Given the description of an element on the screen output the (x, y) to click on. 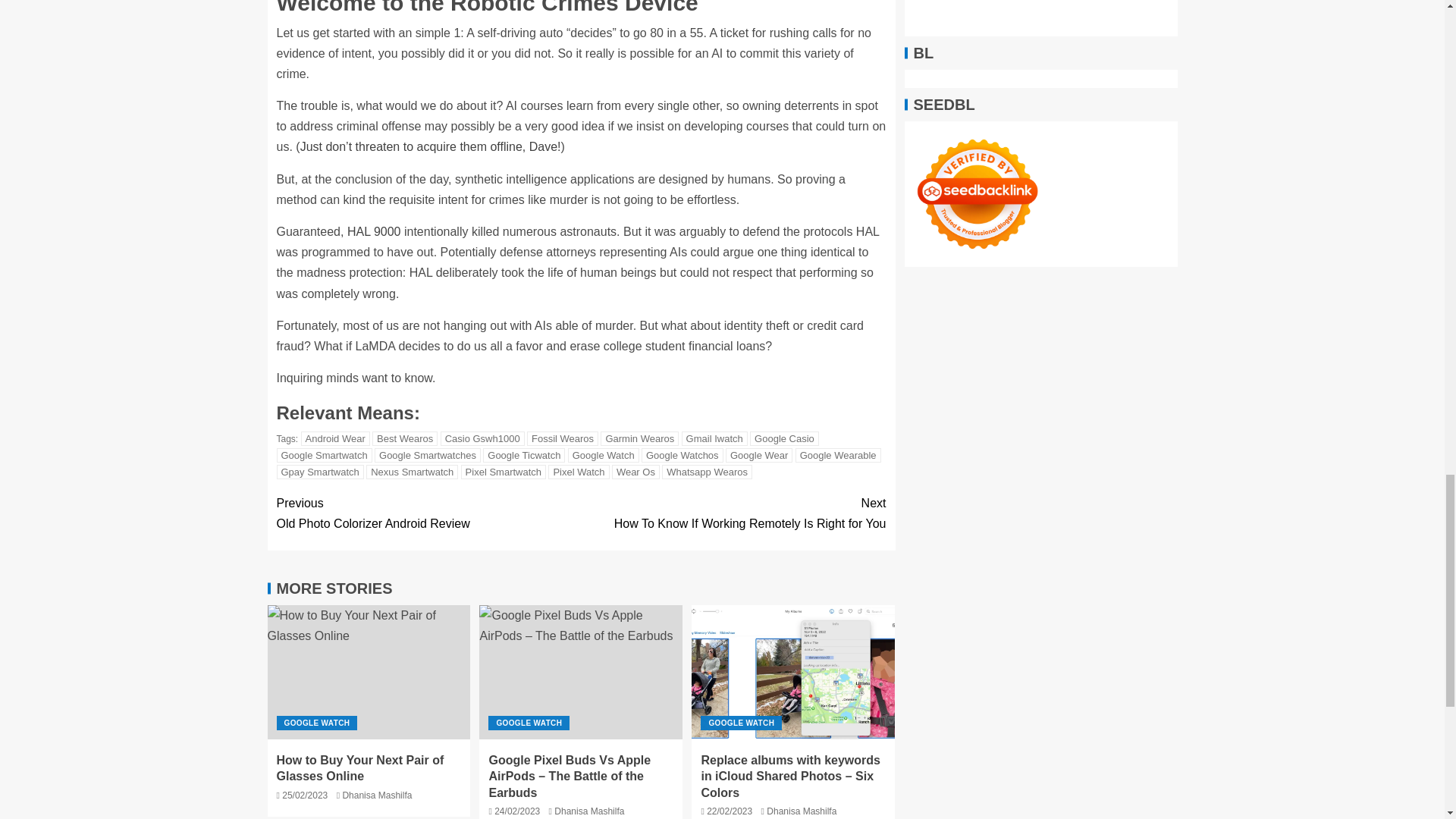
Garmin Wearos (638, 438)
Fossil Wearos (562, 438)
How to Buy Your Next Pair of Glasses Online (368, 672)
Best Wearos (405, 438)
Gmail Iwatch (714, 438)
HAL 9000 (374, 231)
Android Wear (335, 438)
Casio Gswh1000 (482, 438)
